Given the description of an element on the screen output the (x, y) to click on. 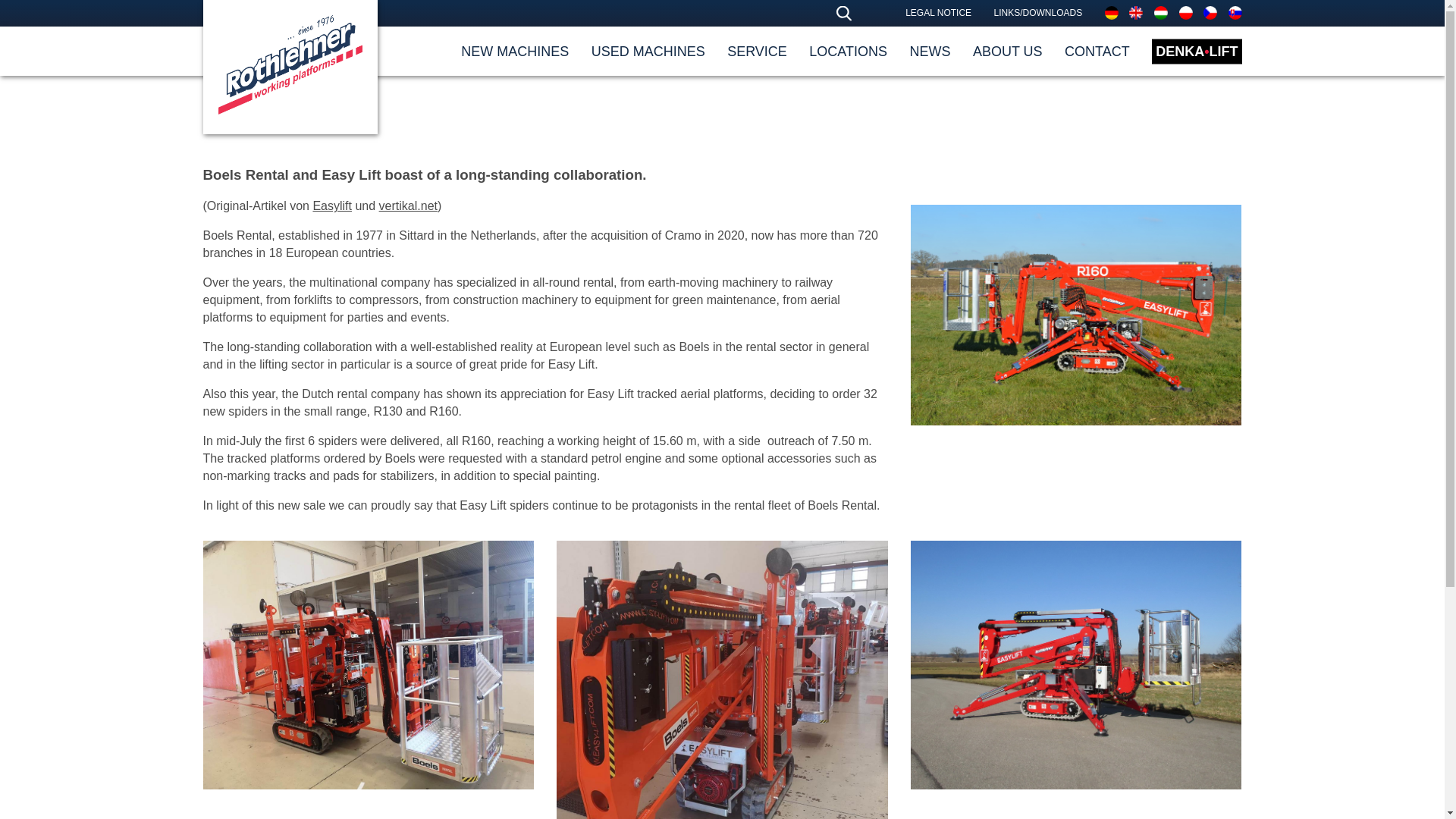
Boels Rental receives 32 spider lifts from Easylift (1076, 314)
Boels Rental receives 32 spider lifts from Easylift (722, 679)
Boels Rental receives 32 spider lifts from Easylift (368, 664)
LEGAL NOTICE (938, 12)
Boels Rental receives 32 spider lifts from Easylift (1076, 664)
